Given the description of an element on the screen output the (x, y) to click on. 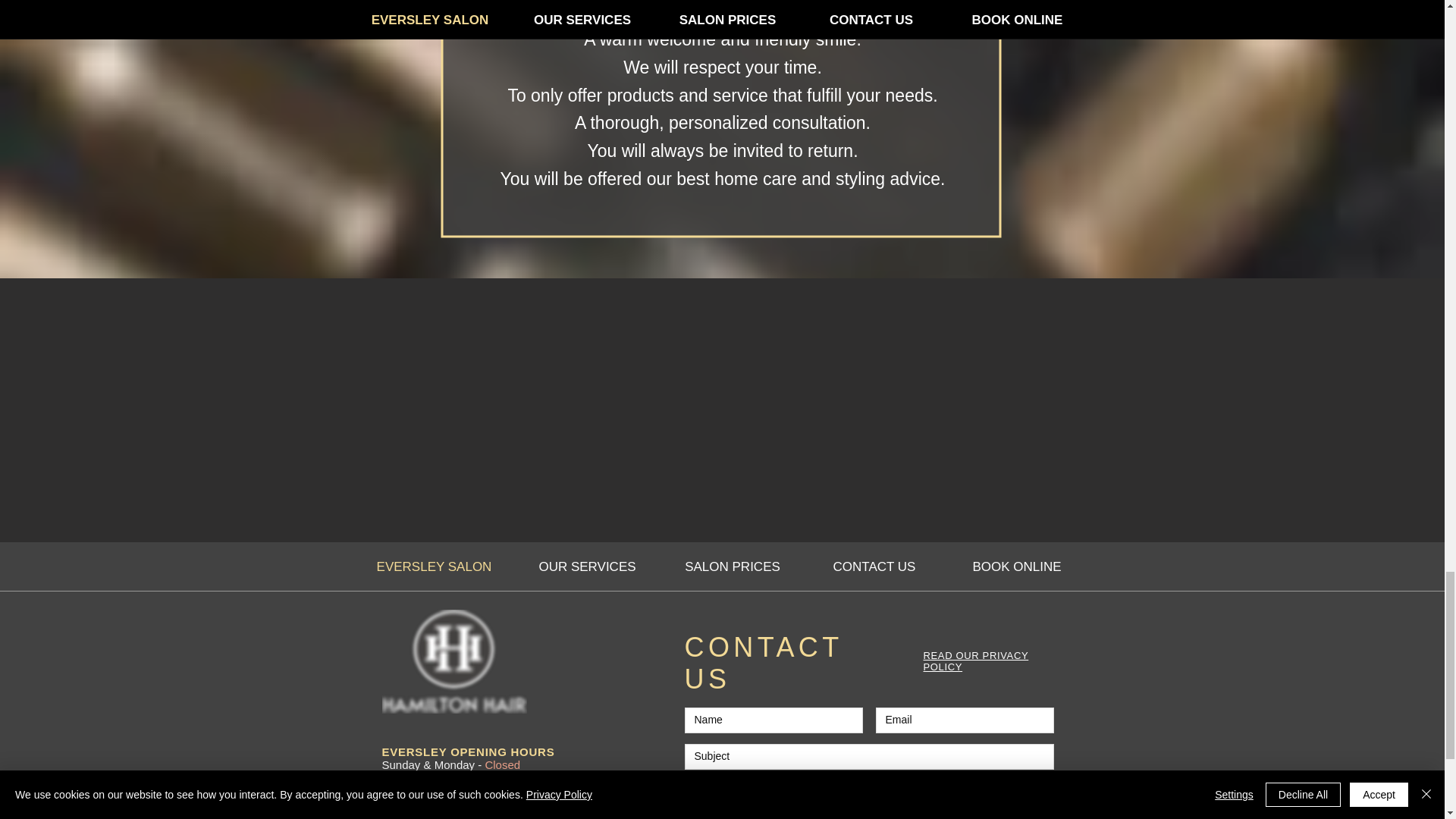
READ OUR PRIVACY POLICY (976, 661)
BOOK ONLINE (1016, 566)
CONTACT US (874, 566)
SALON PRICES (732, 566)
logo.png (454, 661)
EVERSLEY SALON (433, 566)
OUR SERVICES (586, 566)
